Given the description of an element on the screen output the (x, y) to click on. 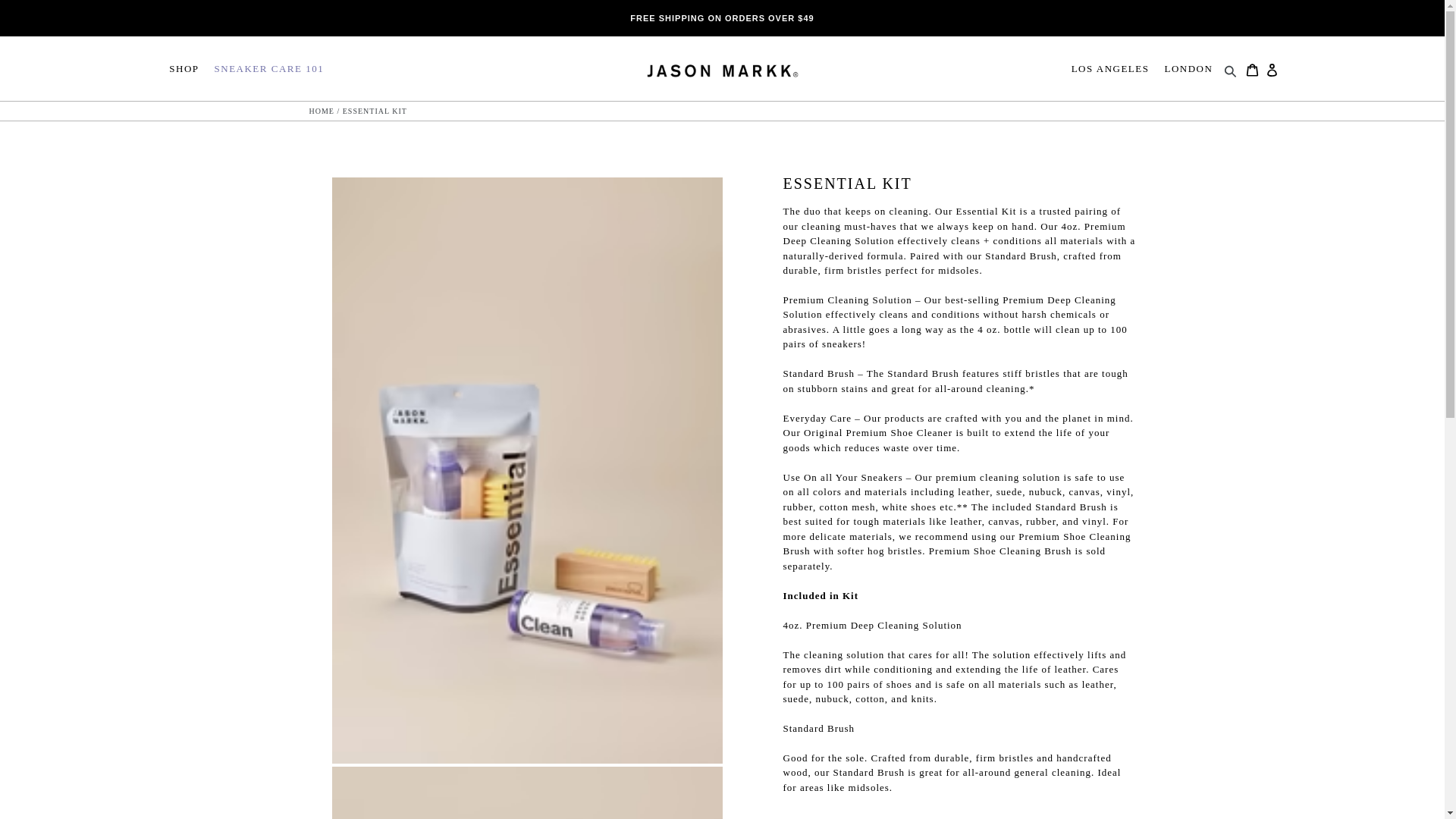
LOS ANGELES (1110, 68)
HOME (321, 111)
SNEAKER CARE 101 (268, 68)
Home (321, 111)
LONDON (1188, 68)
